Given the description of an element on the screen output the (x, y) to click on. 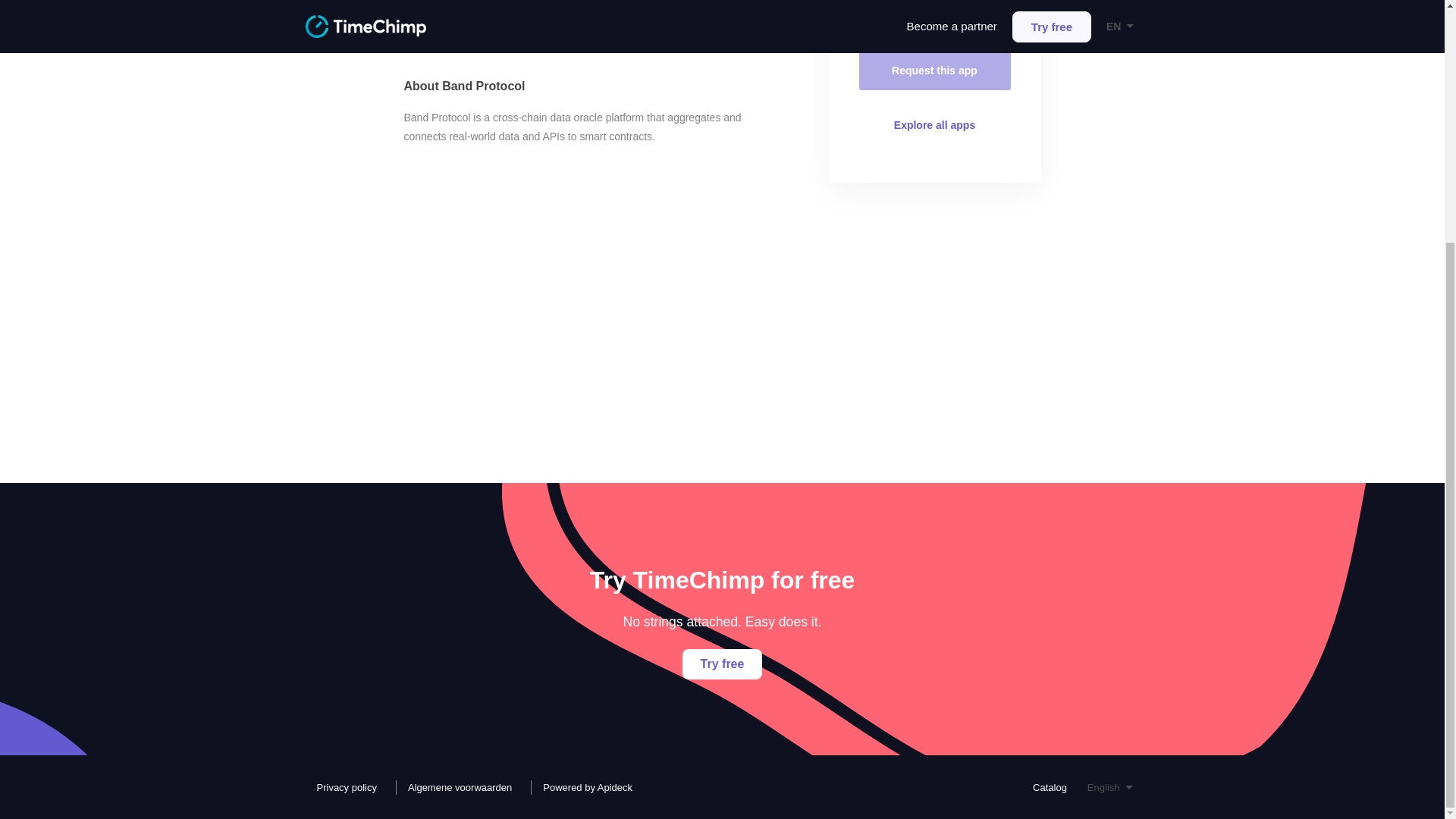
Catalog (1046, 786)
Try free (722, 664)
Powered by Apideck (583, 786)
Privacy policy (342, 786)
Explore all apps (934, 124)
Request this app (934, 70)
Algemene voorwaarden (455, 786)
